Given the description of an element on the screen output the (x, y) to click on. 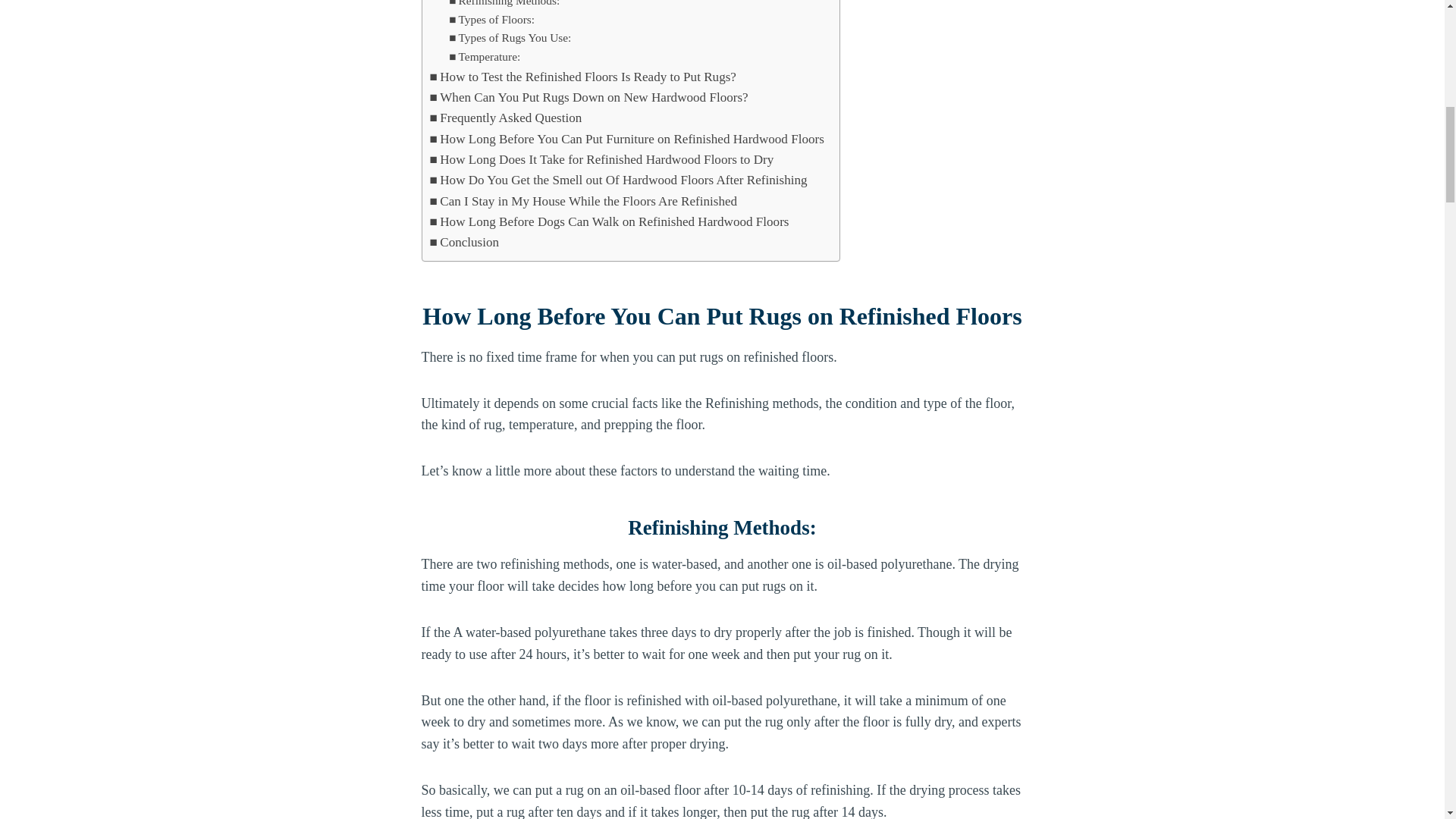
How Long Before Dogs Can Walk on Refinished Hardwood Floors (609, 221)
Frequently Asked Question (504, 117)
When Can You Put Rugs Down on New Hardwood Floors? (588, 96)
Temperature: (483, 56)
Conclusion (464, 241)
Refinishing Methods: (503, 5)
How Long Does It Take for Refinished Hardwood Floors to Dry (601, 159)
